Given the description of an element on the screen output the (x, y) to click on. 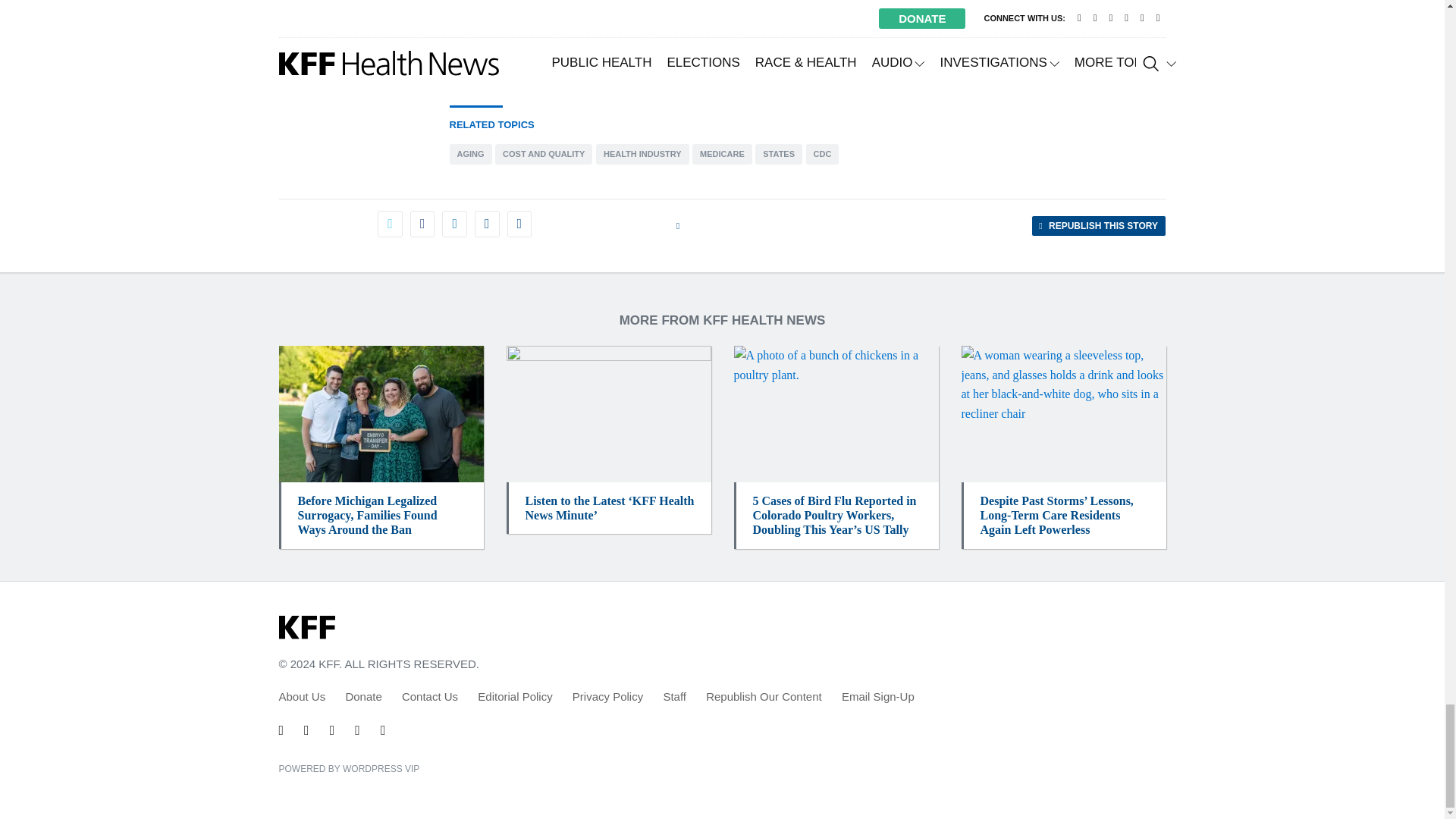
Click to share (1098, 225)
KFF (306, 627)
